Given the description of an element on the screen output the (x, y) to click on. 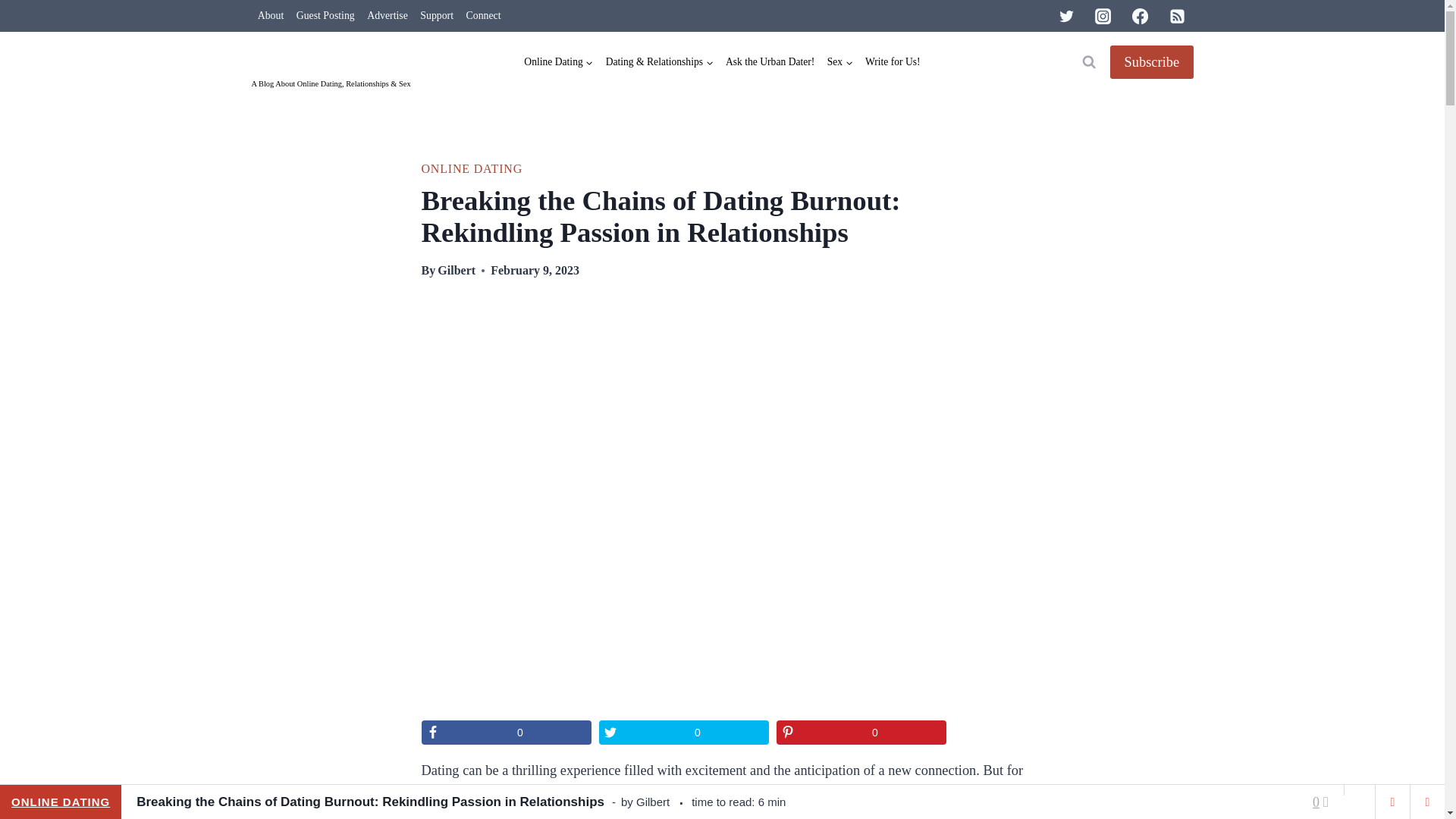
Sex (840, 61)
Gilbert (457, 269)
Support (436, 16)
Subscribe (1150, 61)
Share on Twitter (683, 732)
Write for Us! (892, 61)
Guest Posting (325, 16)
Connect (483, 16)
Ask the Urban Dater! (770, 61)
0 (506, 732)
About (270, 16)
Advertise (387, 16)
ONLINE DATING (472, 168)
Online Dating (558, 61)
Share on Facebook (506, 732)
